Given the description of an element on the screen output the (x, y) to click on. 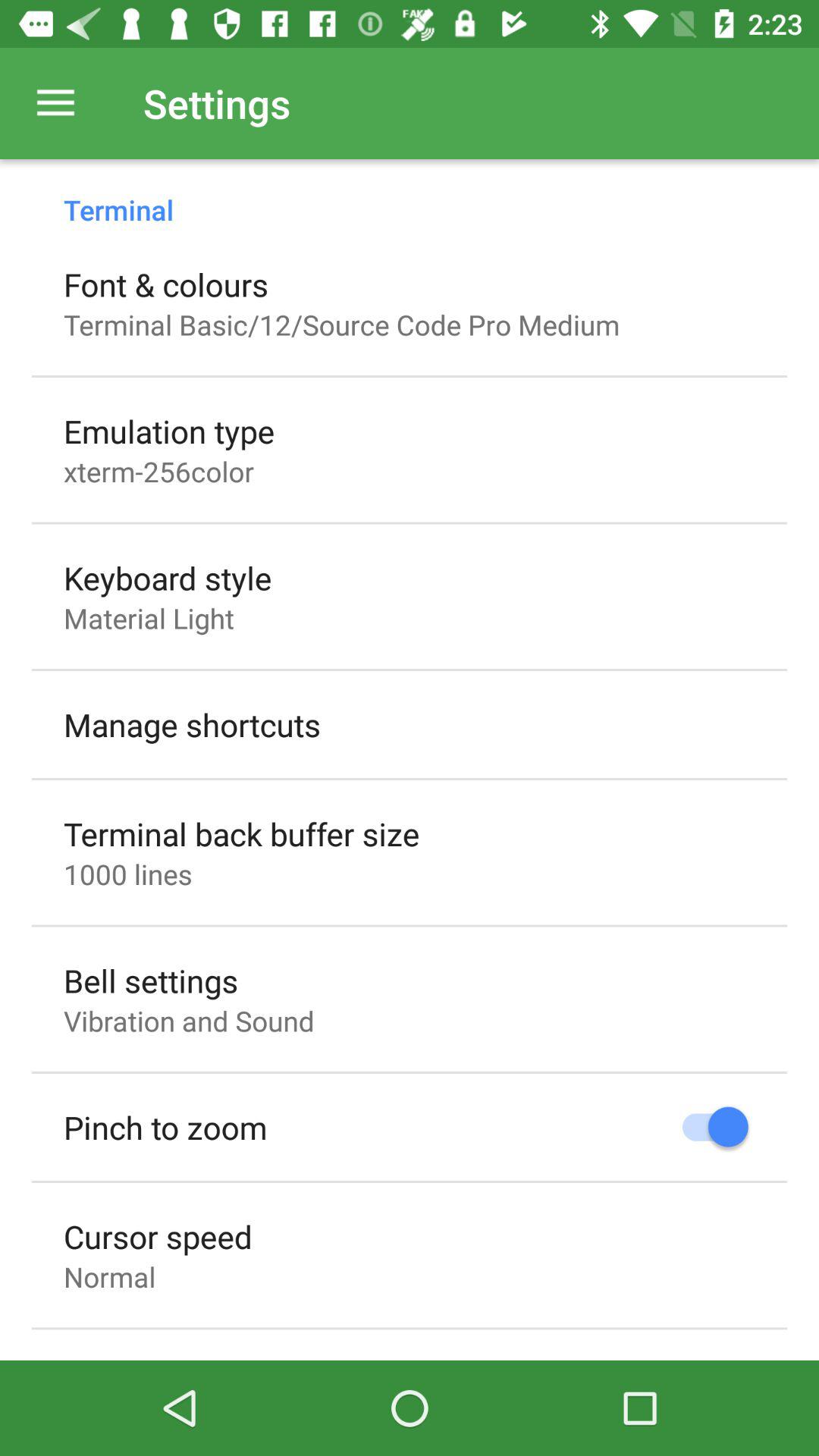
choose item above keyboard style (158, 471)
